Given the description of an element on the screen output the (x, y) to click on. 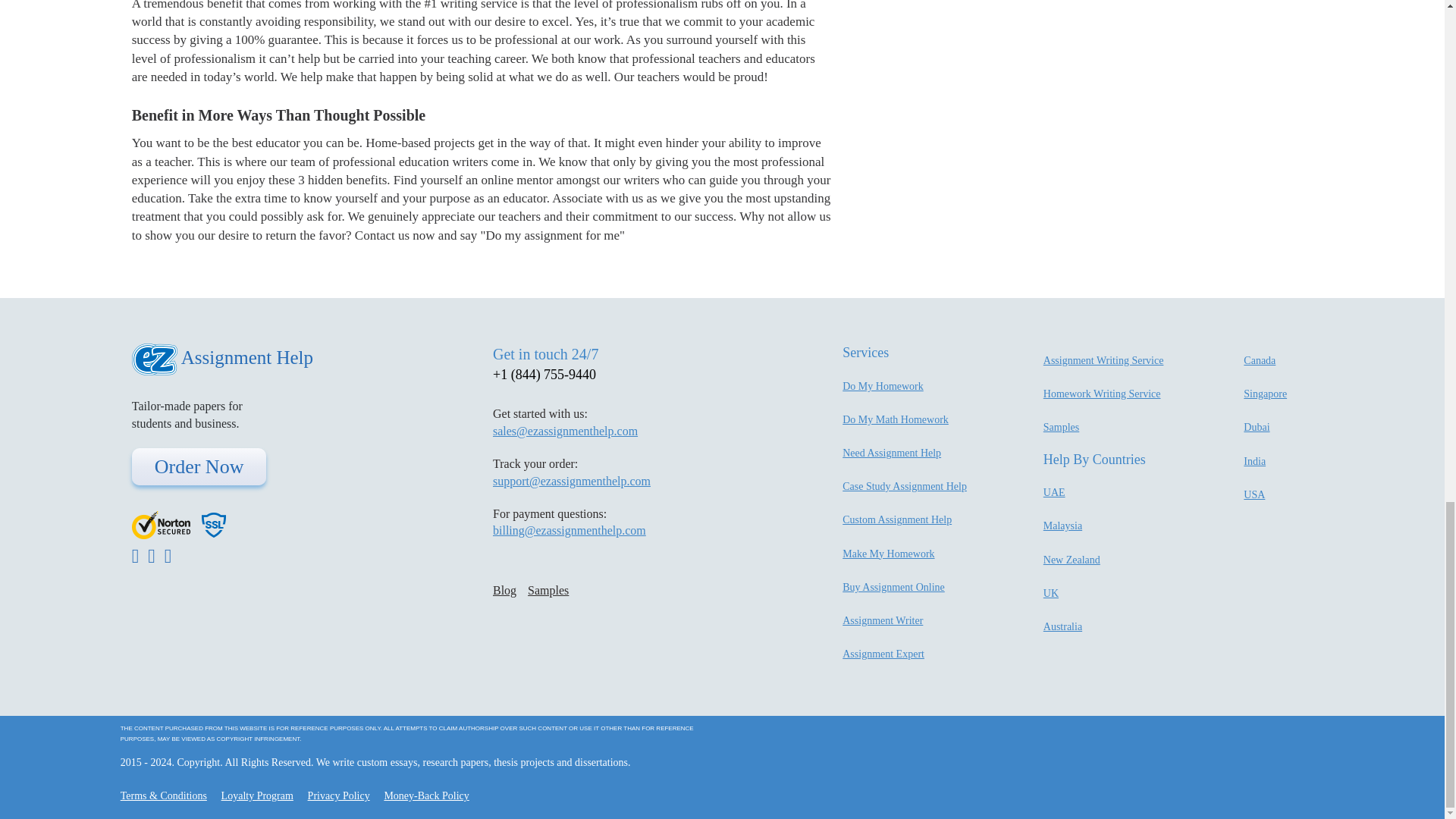
Take a Look at Some Handy Samples Created for Clients (1060, 427)
